Given the description of an element on the screen output the (x, y) to click on. 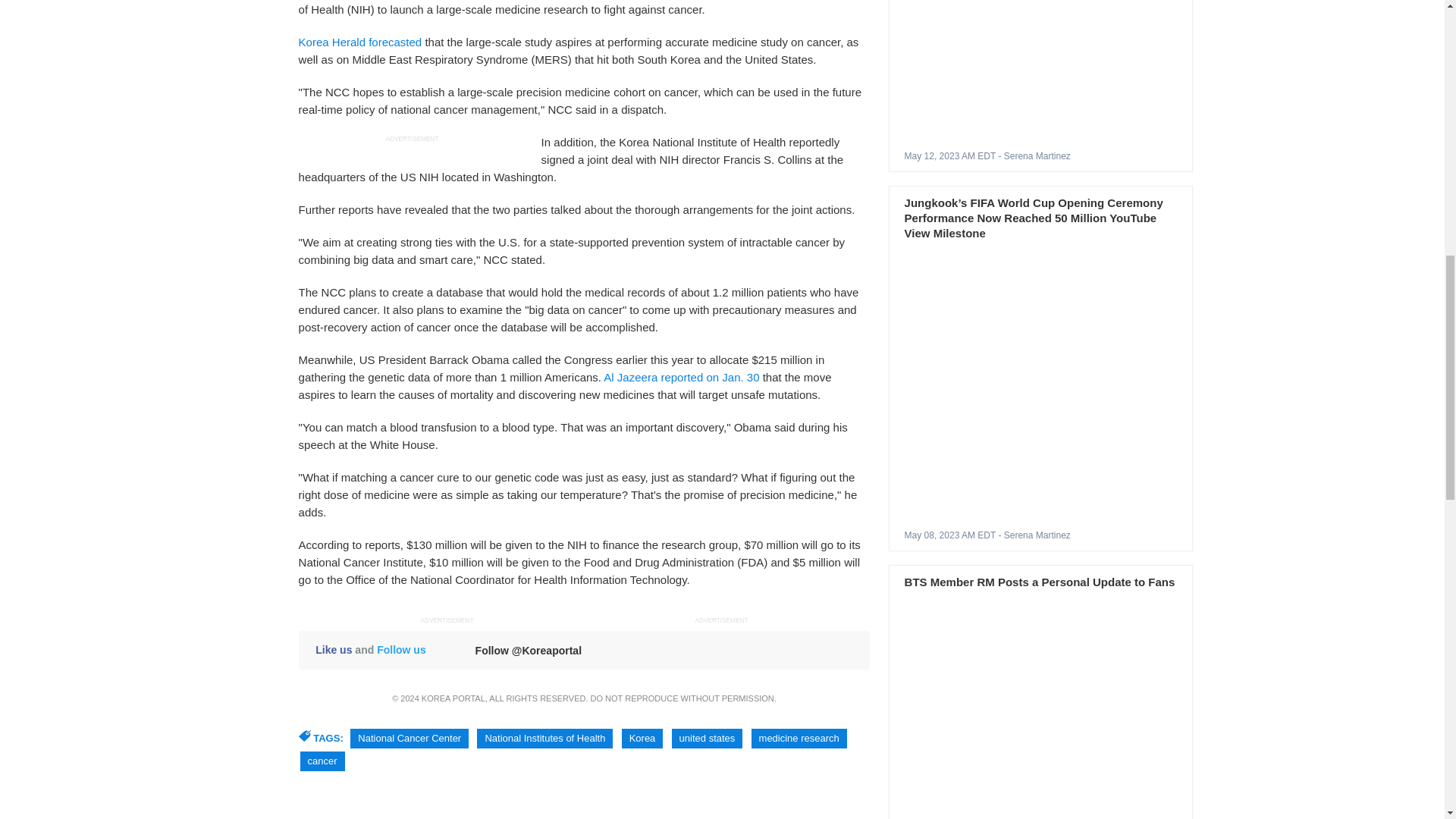
Korea Herald forecasted (361, 42)
Al Jazeera reported on Jan. 30 (681, 377)
